Given the description of an element on the screen output the (x, y) to click on. 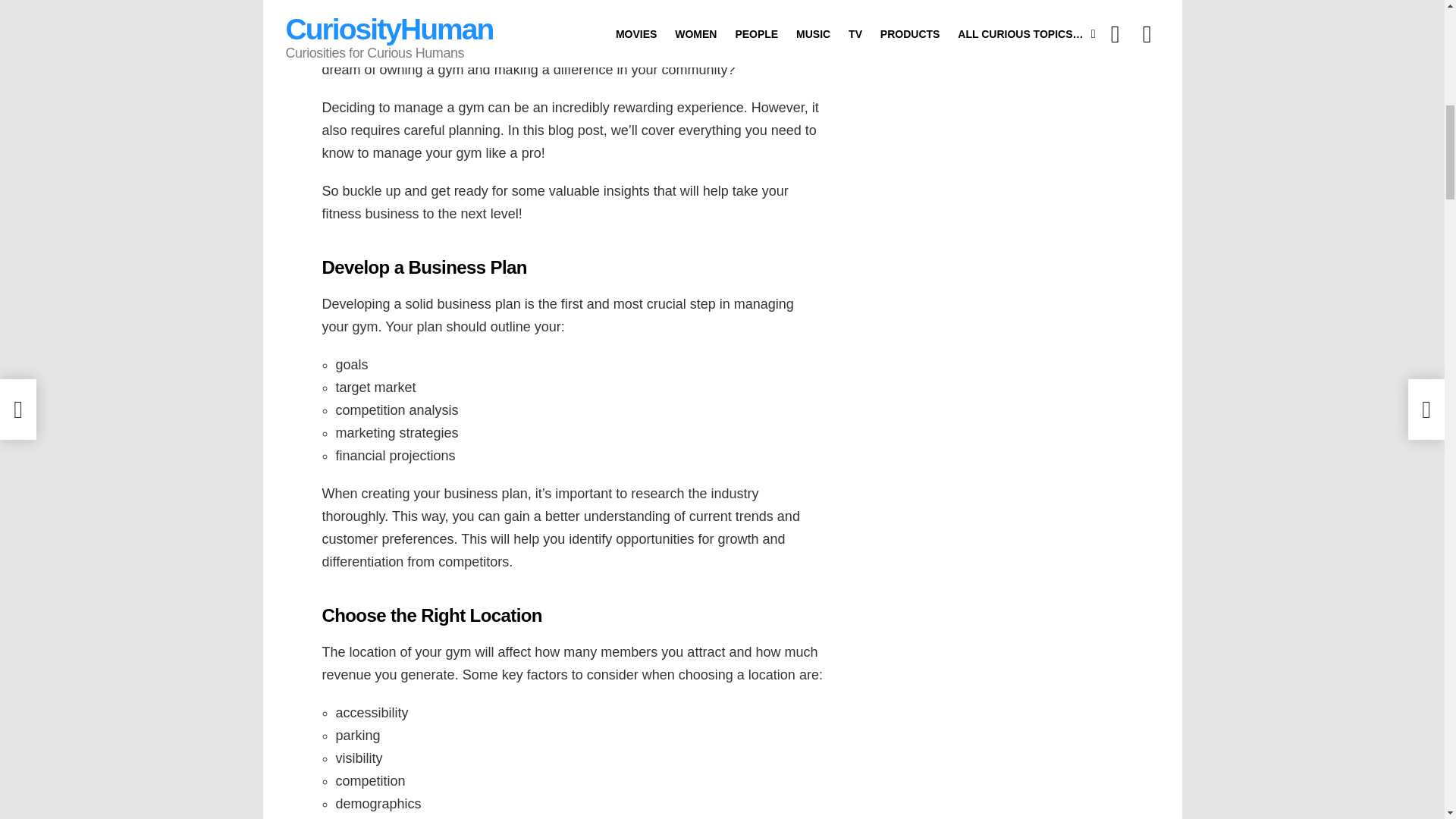
Posts by CuriosityHuman.com - The Site for Curious People (438, 17)
